Given the description of an element on the screen output the (x, y) to click on. 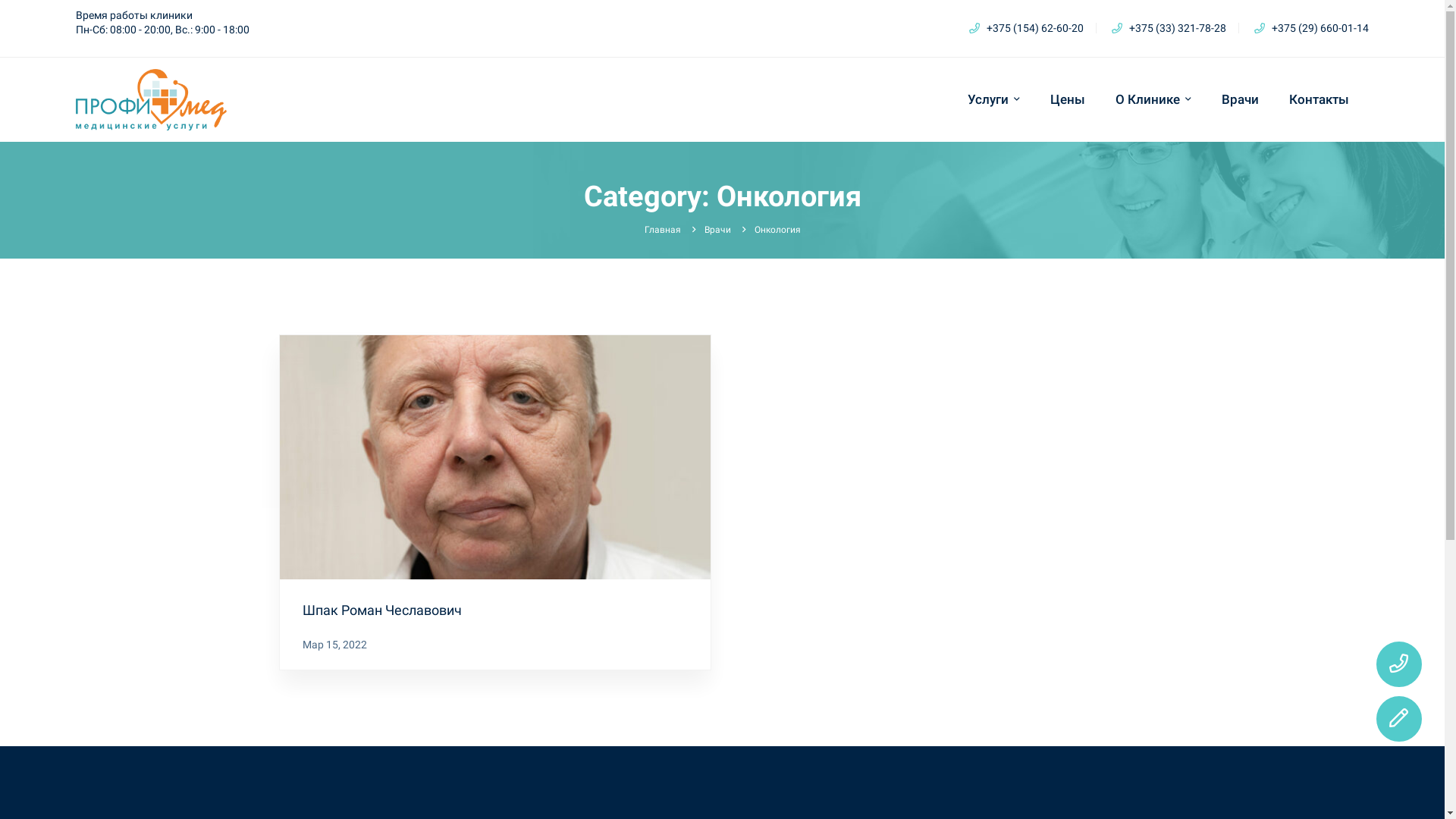
+375 (33) 321-78-28 Element type: text (1168, 27)
+375 (154) 62-60-20 Element type: text (1026, 27)
+375 (29) 660-01-14 Element type: text (1311, 27)
